Given the description of an element on the screen output the (x, y) to click on. 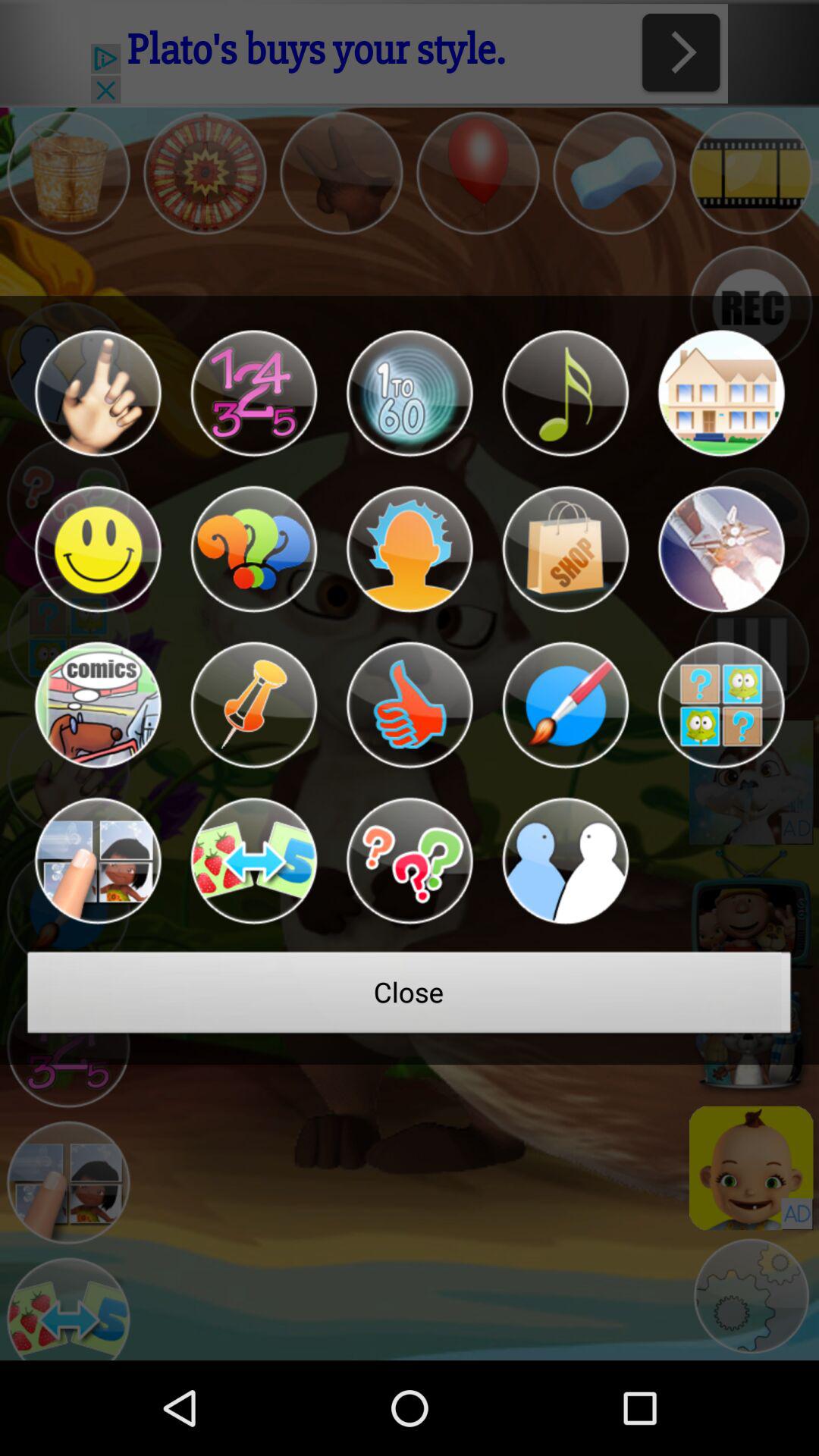
connect people (565, 861)
